Given the description of an element on the screen output the (x, y) to click on. 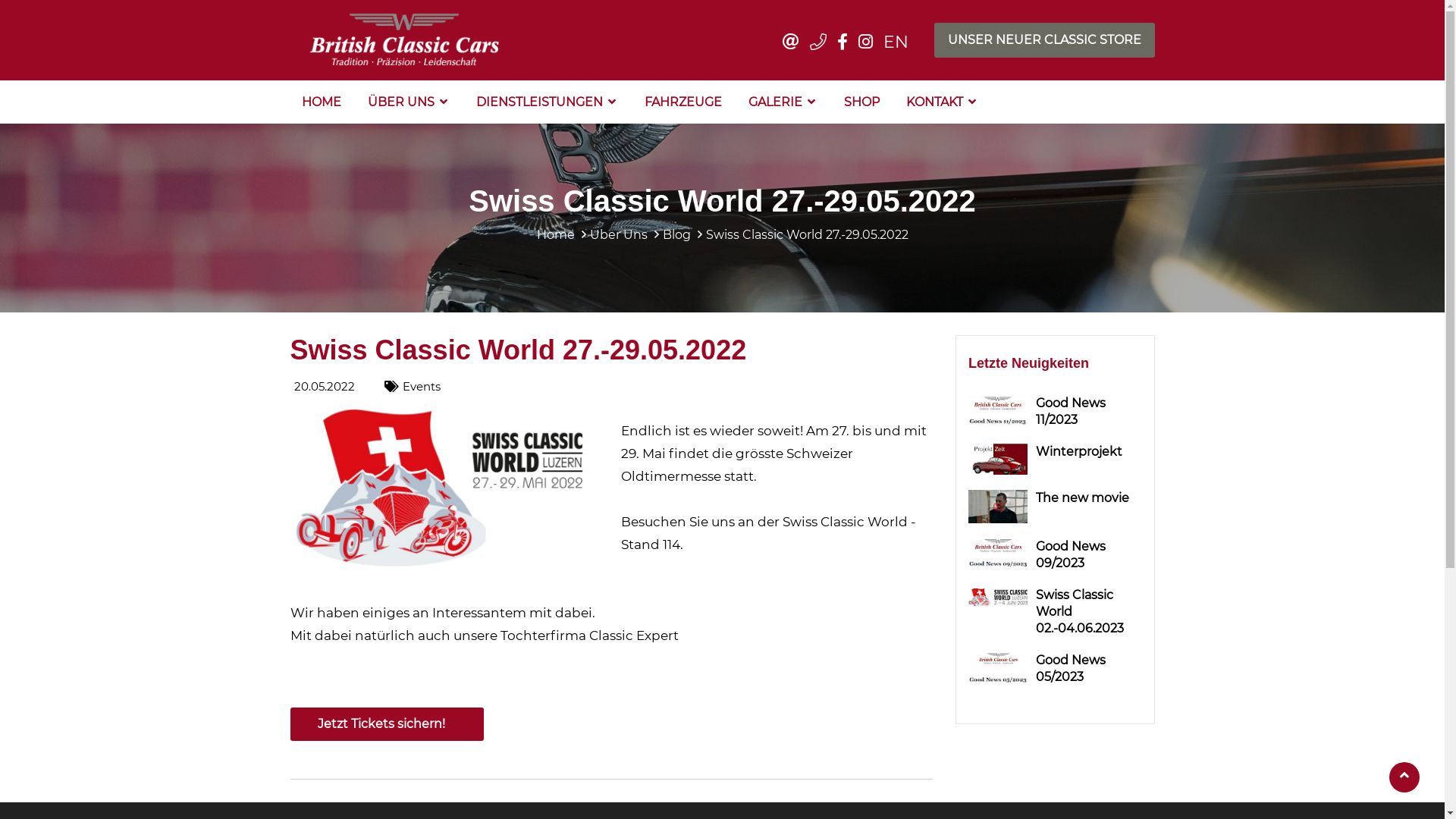
EN Element type: text (894, 41)
Good News 11/2023 Element type: text (1088, 411)
UNSER NEUER CLASSIC STORE Element type: text (1044, 39)
Blog Element type: text (676, 234)
Home Element type: text (555, 234)
Good News 05/2023 Element type: text (1088, 668)
KONTAKT Element type: text (941, 99)
FAHRZEUGE Element type: text (682, 101)
HOME Element type: text (320, 101)
SHOP Element type: text (861, 101)
The new movie Element type: text (1088, 497)
Good News 09/2023 Element type: text (1088, 554)
GALERIE Element type: text (782, 99)
DIENSTLEISTUNGEN Element type: text (546, 99)
Jetzt Tickets sichern! Element type: text (386, 723)
Swiss Classic World 02.-04.06.2023 Element type: text (1088, 611)
Winterprojekt Element type: text (1088, 451)
